Given the description of an element on the screen output the (x, y) to click on. 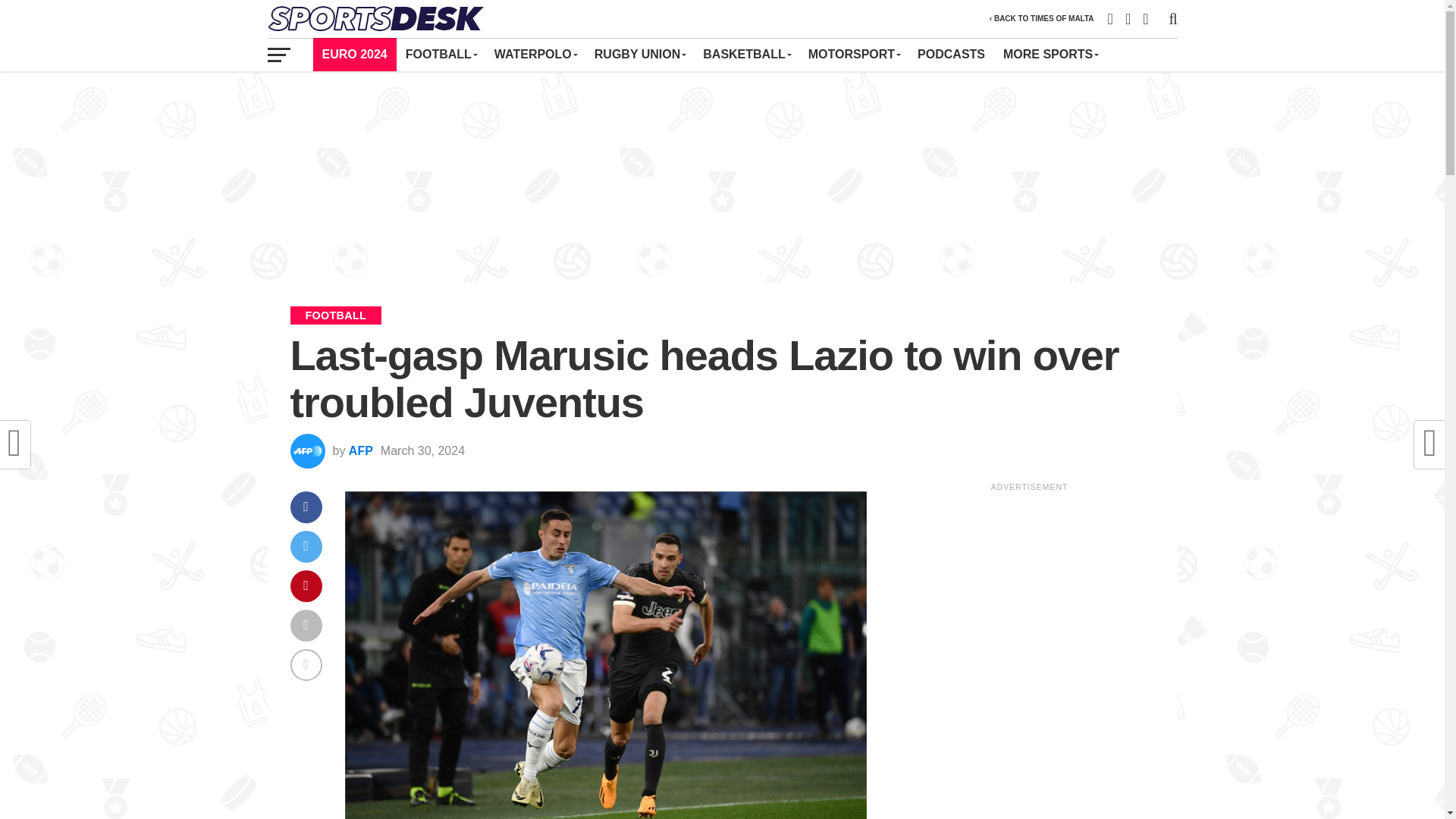
Posts by AFP (360, 450)
